Given the description of an element on the screen output the (x, y) to click on. 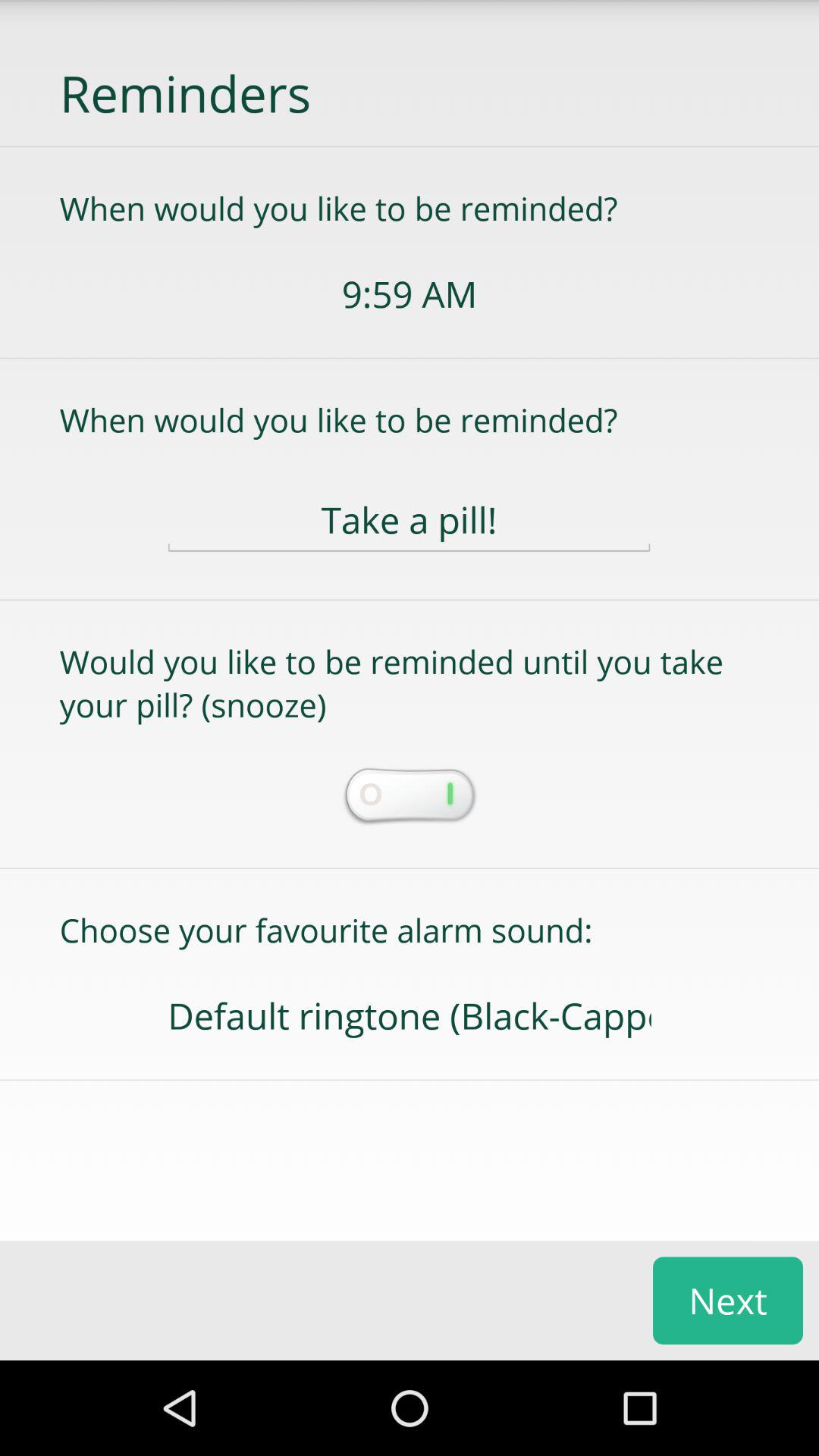
select snooze time (408, 797)
